Given the description of an element on the screen output the (x, y) to click on. 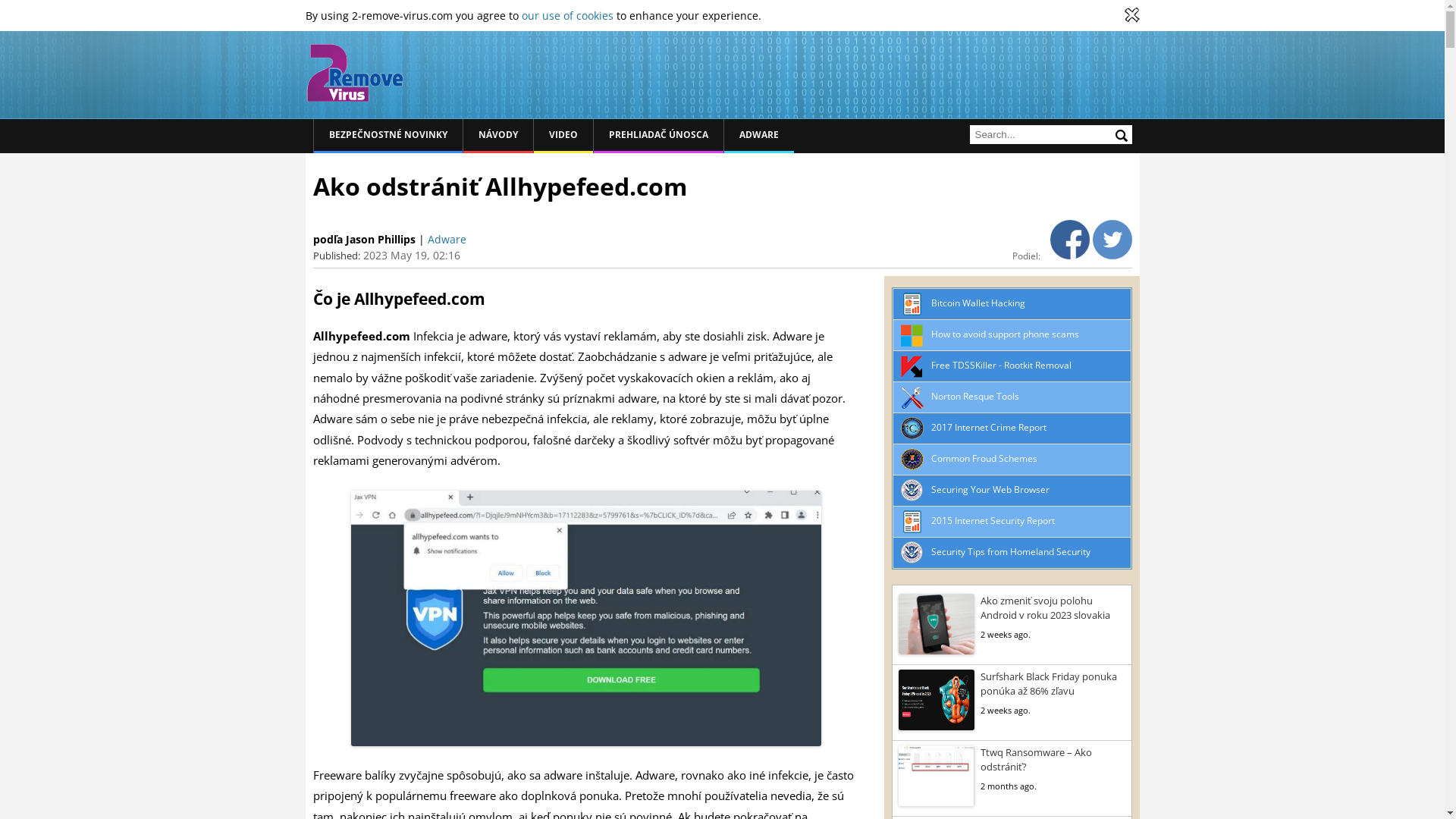
How to avoid support phone scams Element type: text (1005, 333)
our use of cookies Element type: text (567, 15)
ADWARE Element type: text (758, 136)
Security Tips from Homeland Security Element type: text (1010, 550)
Search Element type: text (1120, 135)
VIDEO Element type: text (563, 136)
Bitcoin Wallet Hacking Element type: text (978, 301)
2017 Internet Crime Report Element type: text (988, 426)
2 Remove Virus Element type: text (353, 72)
Norton Resque Tools Element type: text (975, 395)
Securing Your Web Browser Element type: text (990, 488)
Common Froud Schemes Element type: text (984, 457)
Free TDSSKiller - Rootkit Removal Element type: text (1001, 363)
Close Element type: text (1131, 14)
2015 Internet Security Report Element type: text (992, 520)
Adware Element type: text (446, 239)
